Given the description of an element on the screen output the (x, y) to click on. 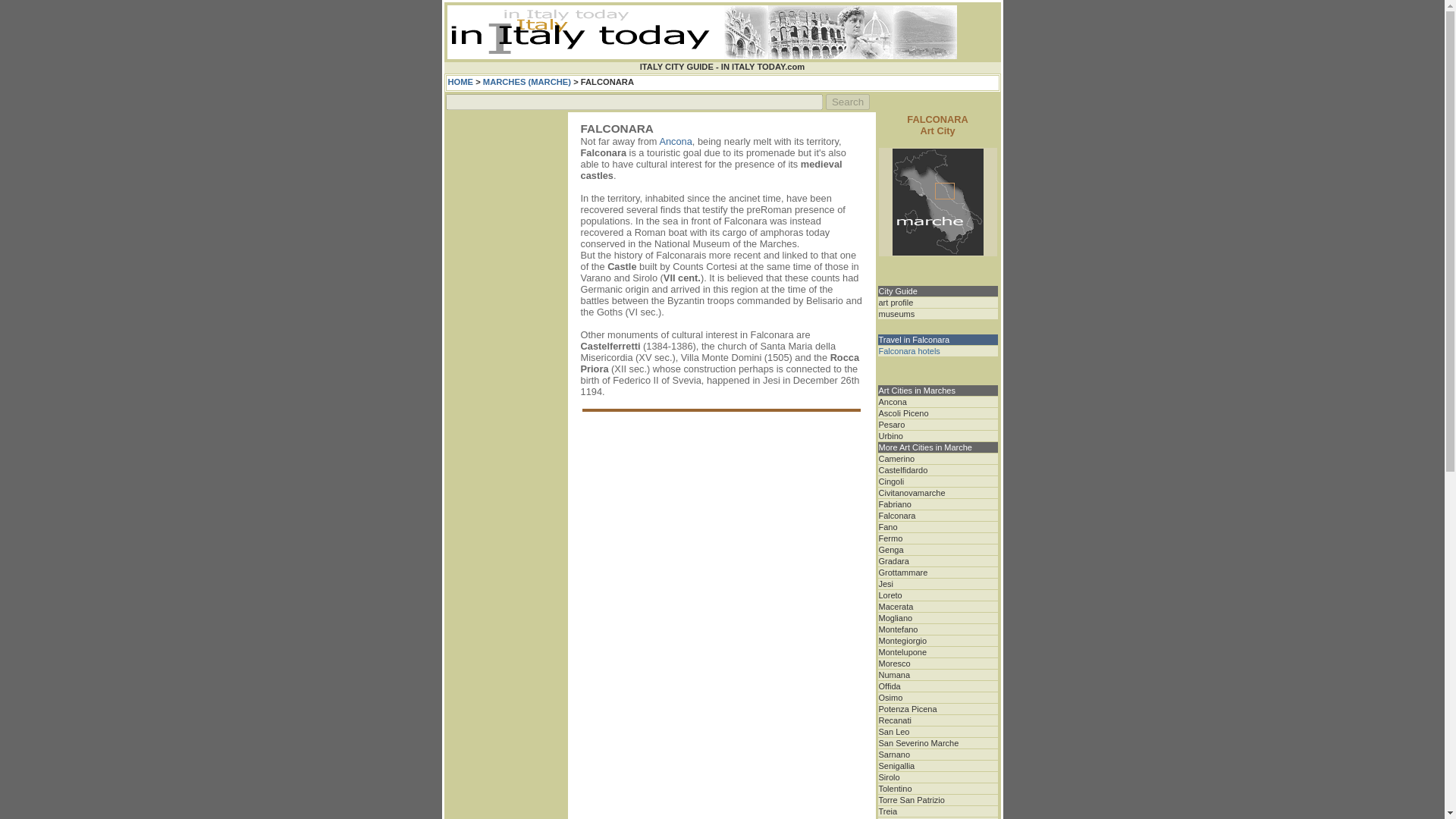
Search (847, 101)
San Severino Marche (917, 742)
Moresco (893, 663)
Civitanovamarche (910, 492)
Fano (886, 526)
Castelfidardo (902, 470)
Offida (888, 686)
Falconara (896, 515)
Urbino (889, 435)
San Leo (892, 731)
Jesi (885, 583)
Numana (893, 674)
Grottammare (902, 572)
Gradara (892, 560)
Fabriano (894, 503)
